Given the description of an element on the screen output the (x, y) to click on. 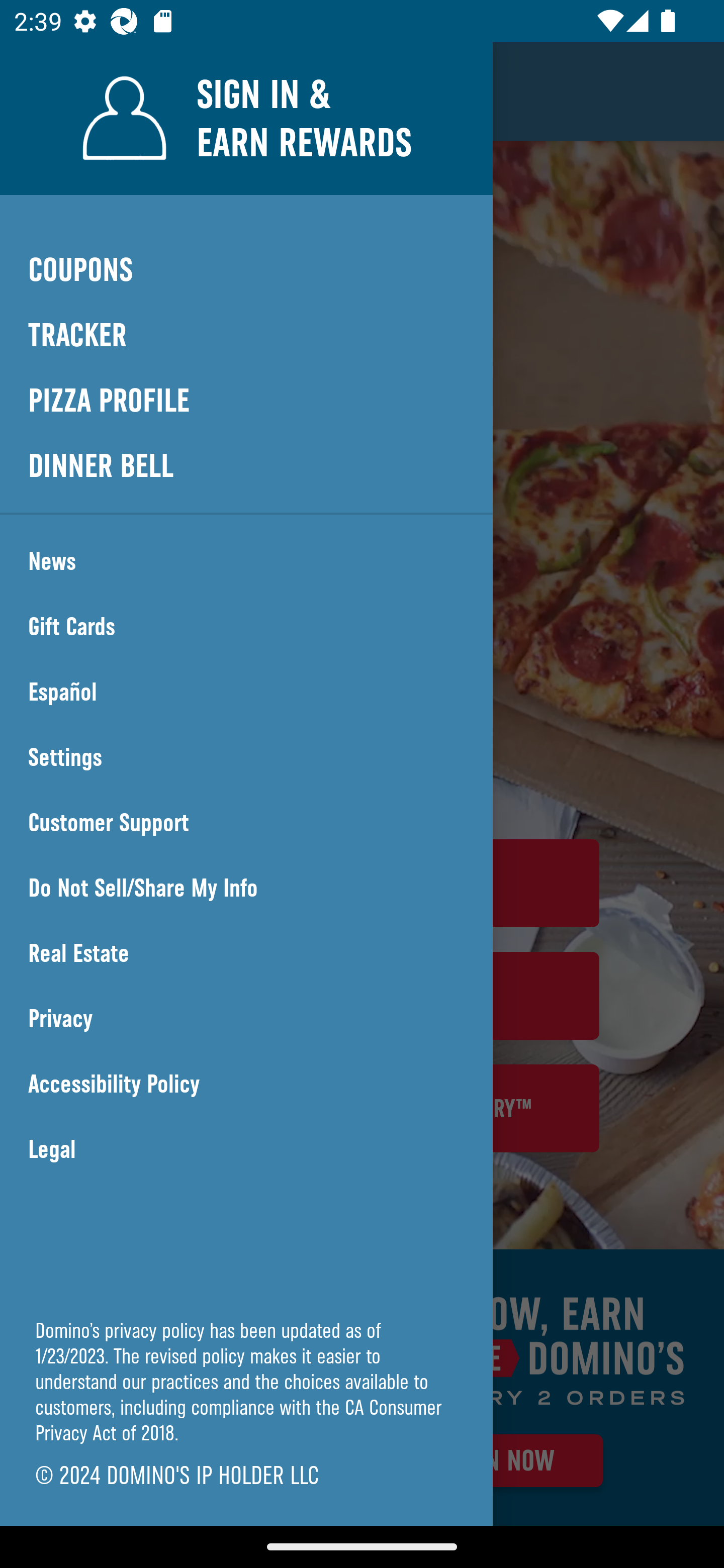
SIGN IN & EARN REWARDS (246, 118)
COUPONS (246, 269)
TRACKER (246, 335)
PIZZA PROFILE (246, 400)
DINNER BELL (246, 465)
News (246, 561)
Gift Cards (246, 627)
Español (246, 692)
Settings (246, 757)
Customer Support (246, 823)
Do Not Sell/Share My Info (246, 888)
Real Estate (246, 953)
Privacy (246, 1019)
Accessibility Policy (246, 1084)
Legal (246, 1149)
